Given the description of an element on the screen output the (x, y) to click on. 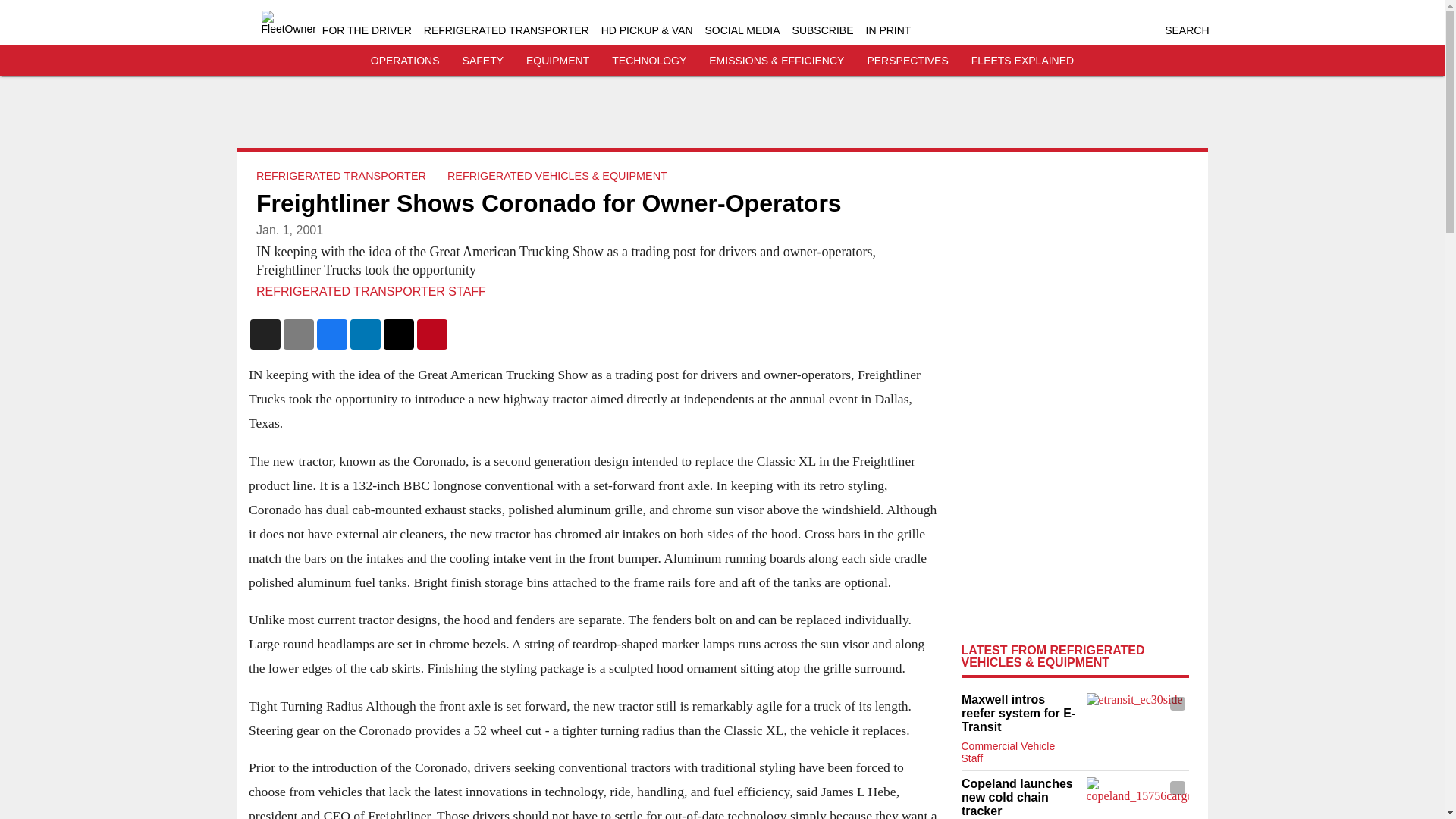
IN PRINT (888, 30)
OPERATIONS (405, 60)
SAFETY (483, 60)
SEARCH (1186, 30)
REFRIGERATED TRANSPORTER (506, 30)
REFRIGERATED TRANSPORTER STAFF (371, 291)
TECHNOLOGY (648, 60)
EQUIPMENT (557, 60)
Maxwell intros reefer system for E-Transit (1019, 712)
SOCIAL MEDIA (742, 30)
